Given the description of an element on the screen output the (x, y) to click on. 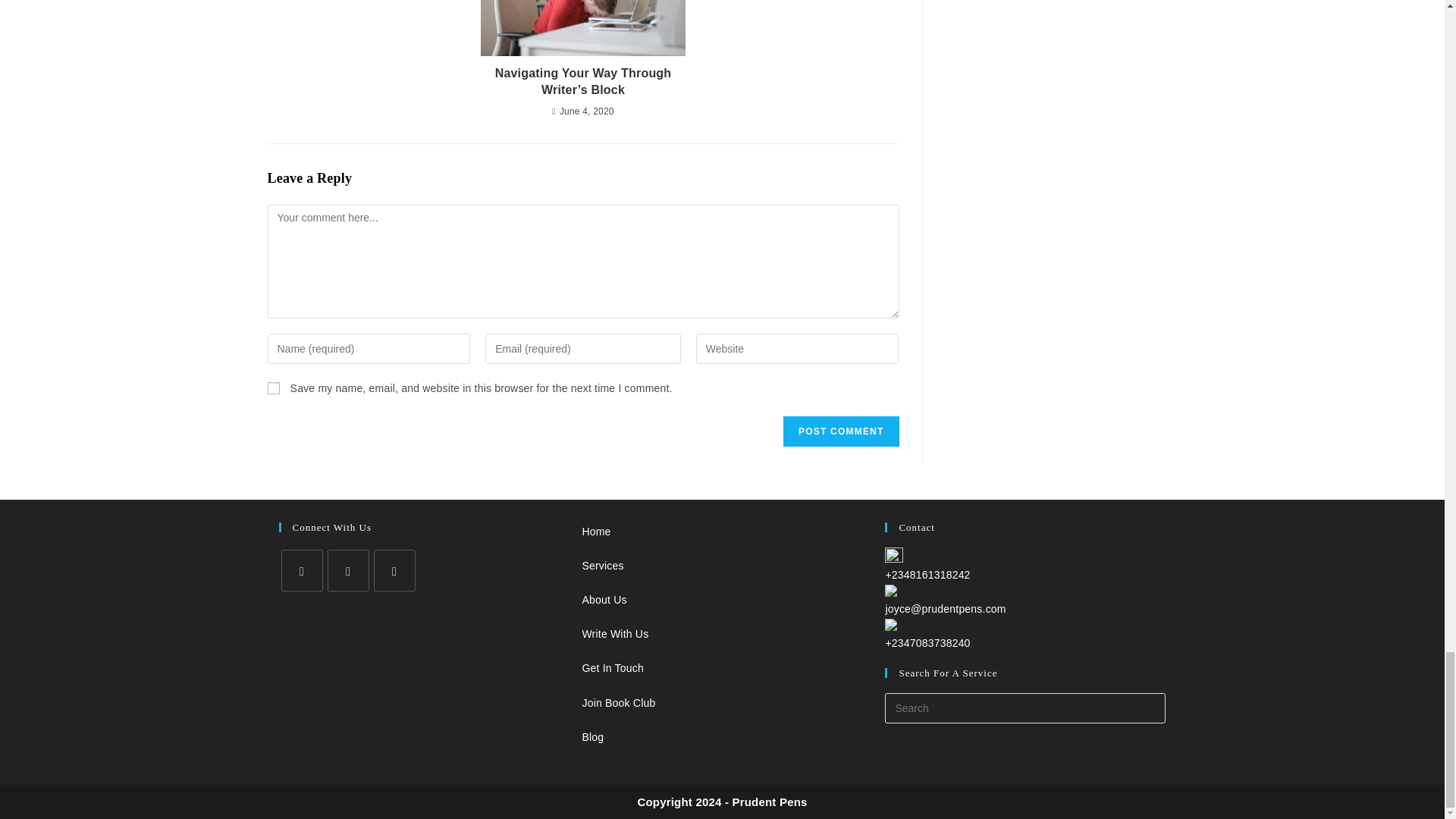
Services (601, 565)
Blog (592, 736)
Get In Touch (611, 667)
yes (272, 387)
Home (595, 531)
About Us (603, 599)
Post Comment (840, 431)
Post Comment (840, 431)
Write With Us (613, 633)
Join Book Club (617, 702)
